Given the description of an element on the screen output the (x, y) to click on. 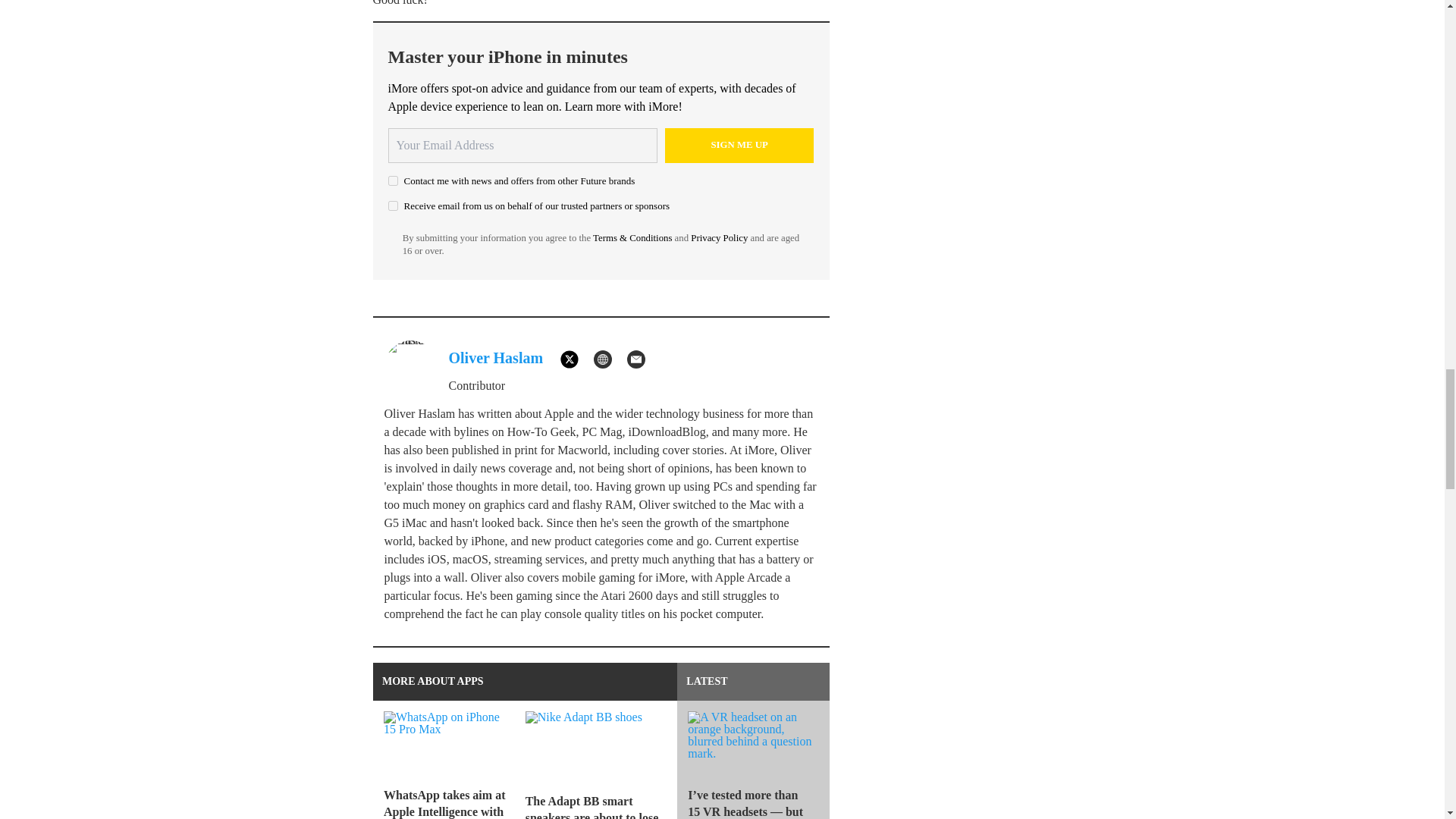
Sign me up (739, 144)
on (392, 180)
on (392, 205)
